Given the description of an element on the screen output the (x, y) to click on. 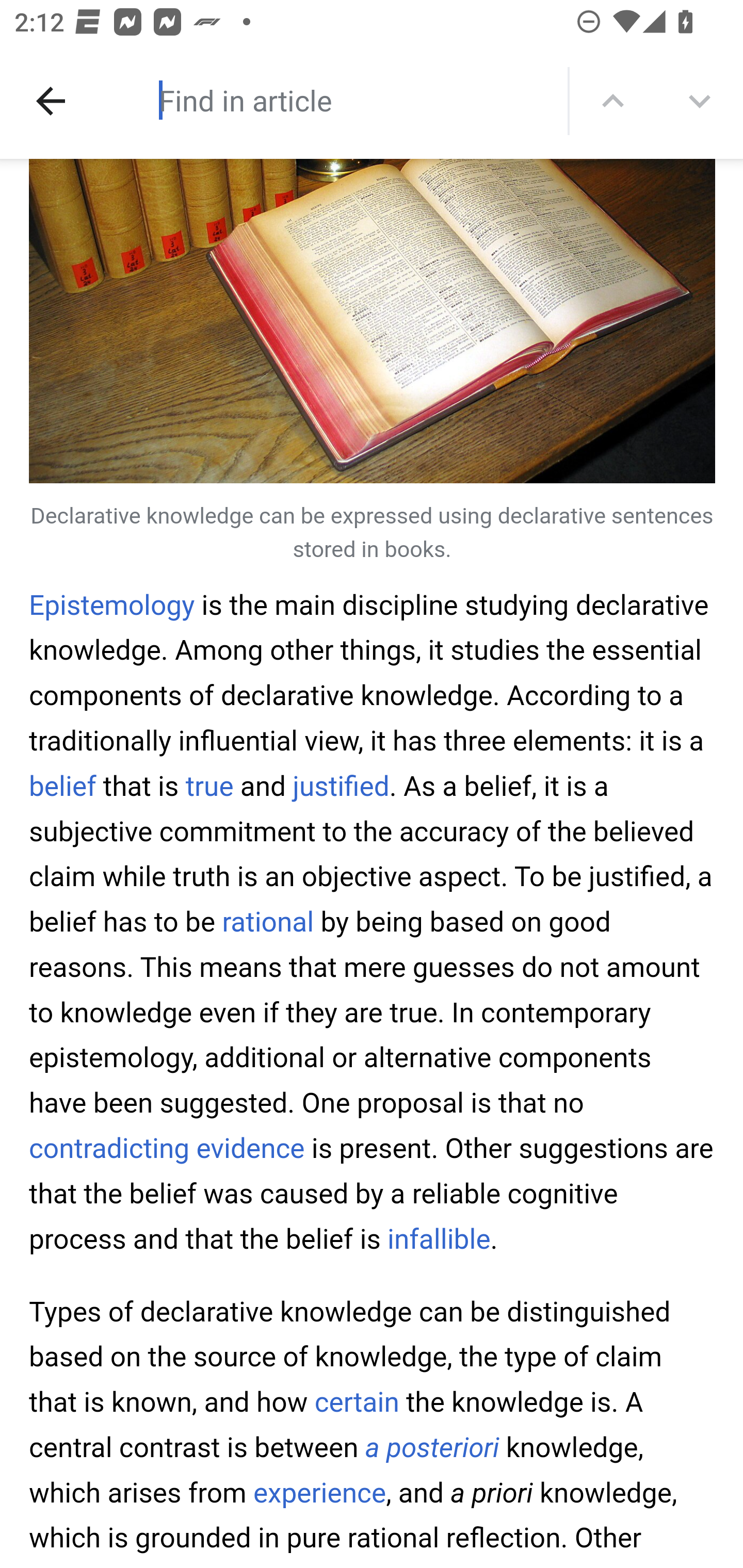
Done (50, 101)
Find previous (612, 101)
Find next (699, 101)
Find in article (334, 100)
Epistemology (112, 605)
belief (62, 785)
true (209, 785)
justified (341, 785)
rational (267, 923)
contradicting evidence (166, 1149)
infallible (438, 1238)
certain (357, 1403)
a posteriori (432, 1448)
experience (319, 1493)
